Given the description of an element on the screen output the (x, y) to click on. 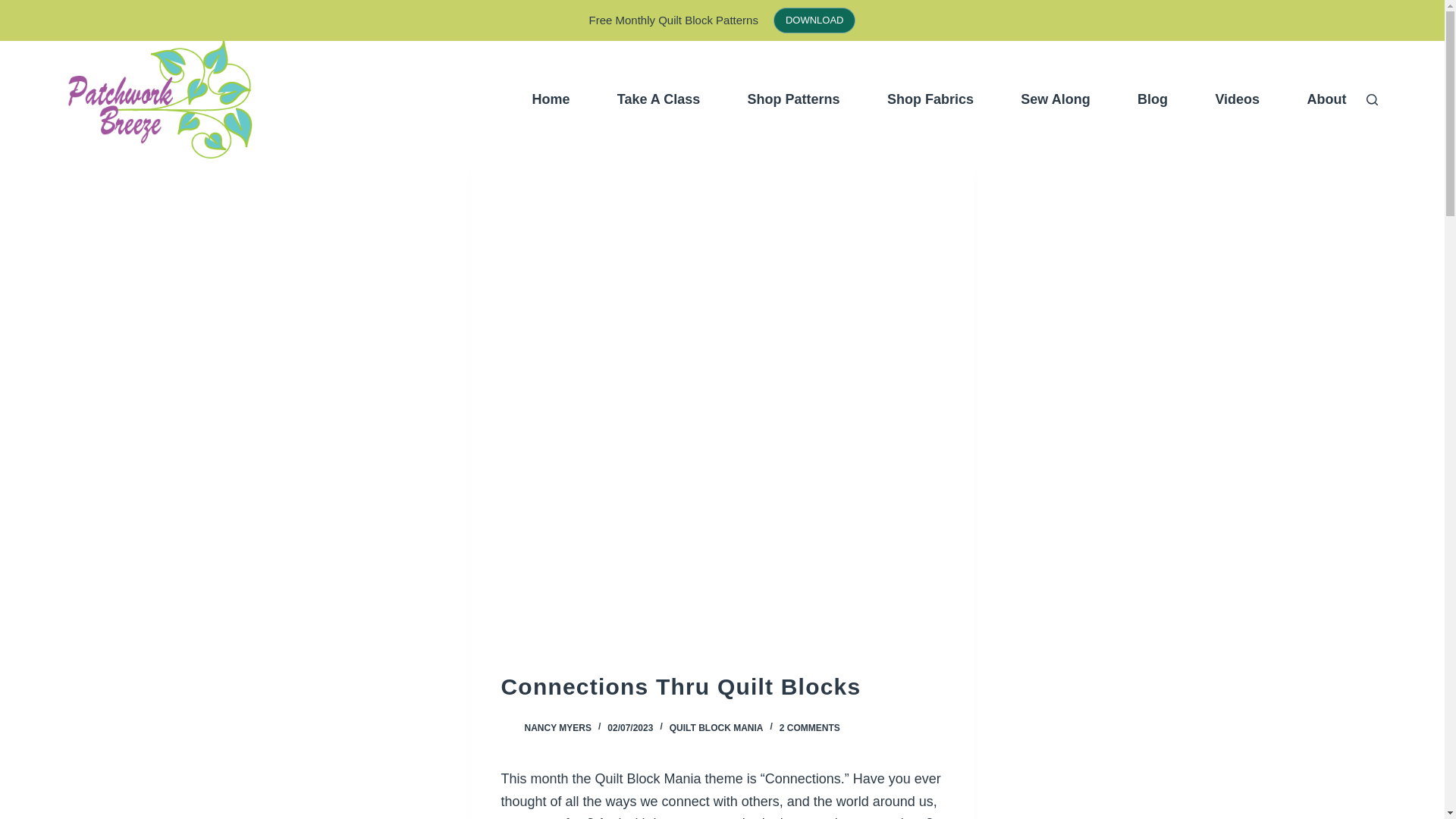
2 COMMENTS (809, 727)
Posts by Nancy Myers (557, 727)
DOWNLOAD (814, 20)
Skip to content (15, 7)
NANCY MYERS (557, 727)
Connections Thru Quilt Blocks (721, 686)
QUILT BLOCK MANIA (715, 727)
